Given the description of an element on the screen output the (x, y) to click on. 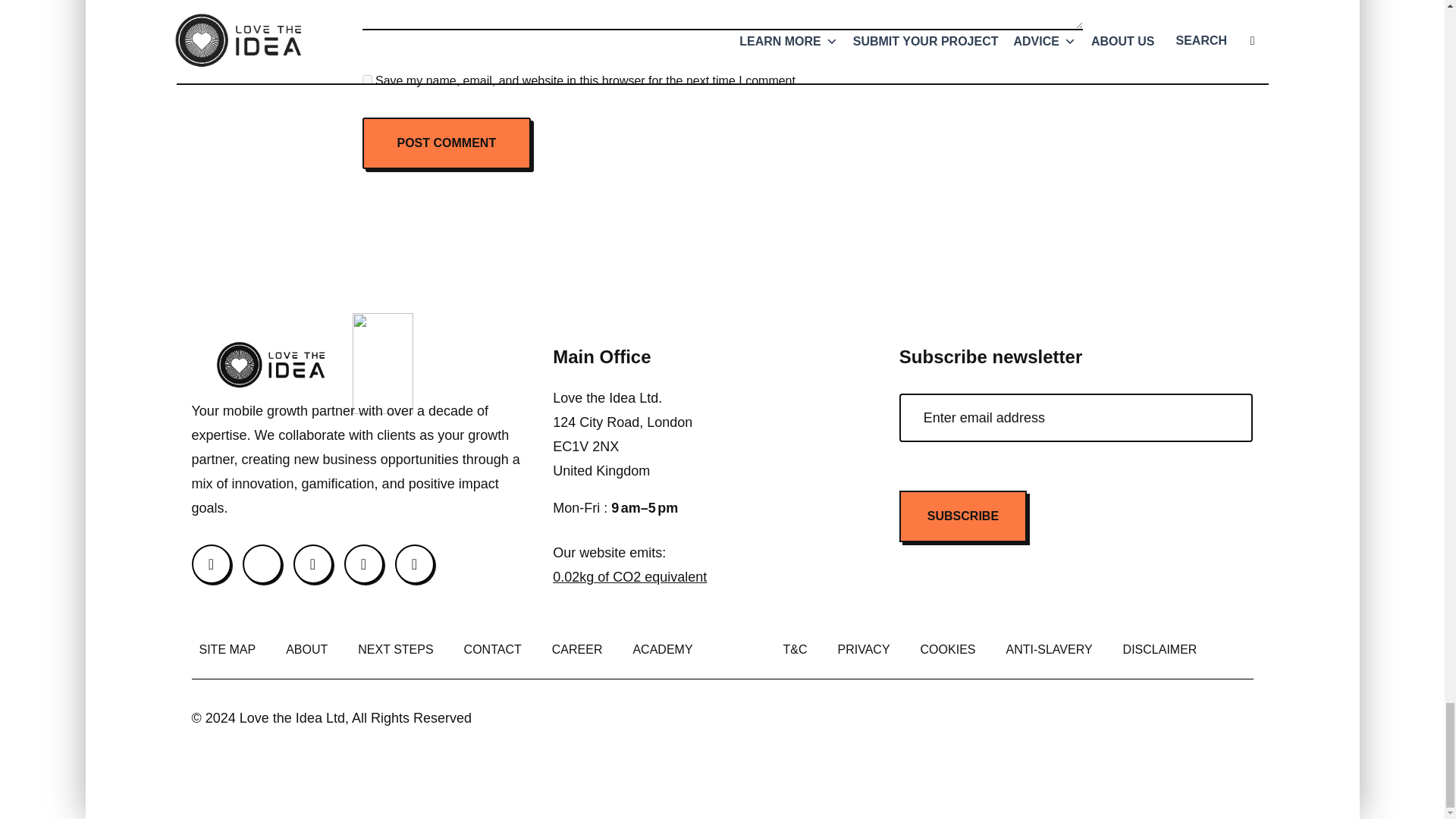
yes (367, 80)
Subscribe (962, 516)
Post Comment (446, 142)
Post Comment (446, 142)
